Given the description of an element on the screen output the (x, y) to click on. 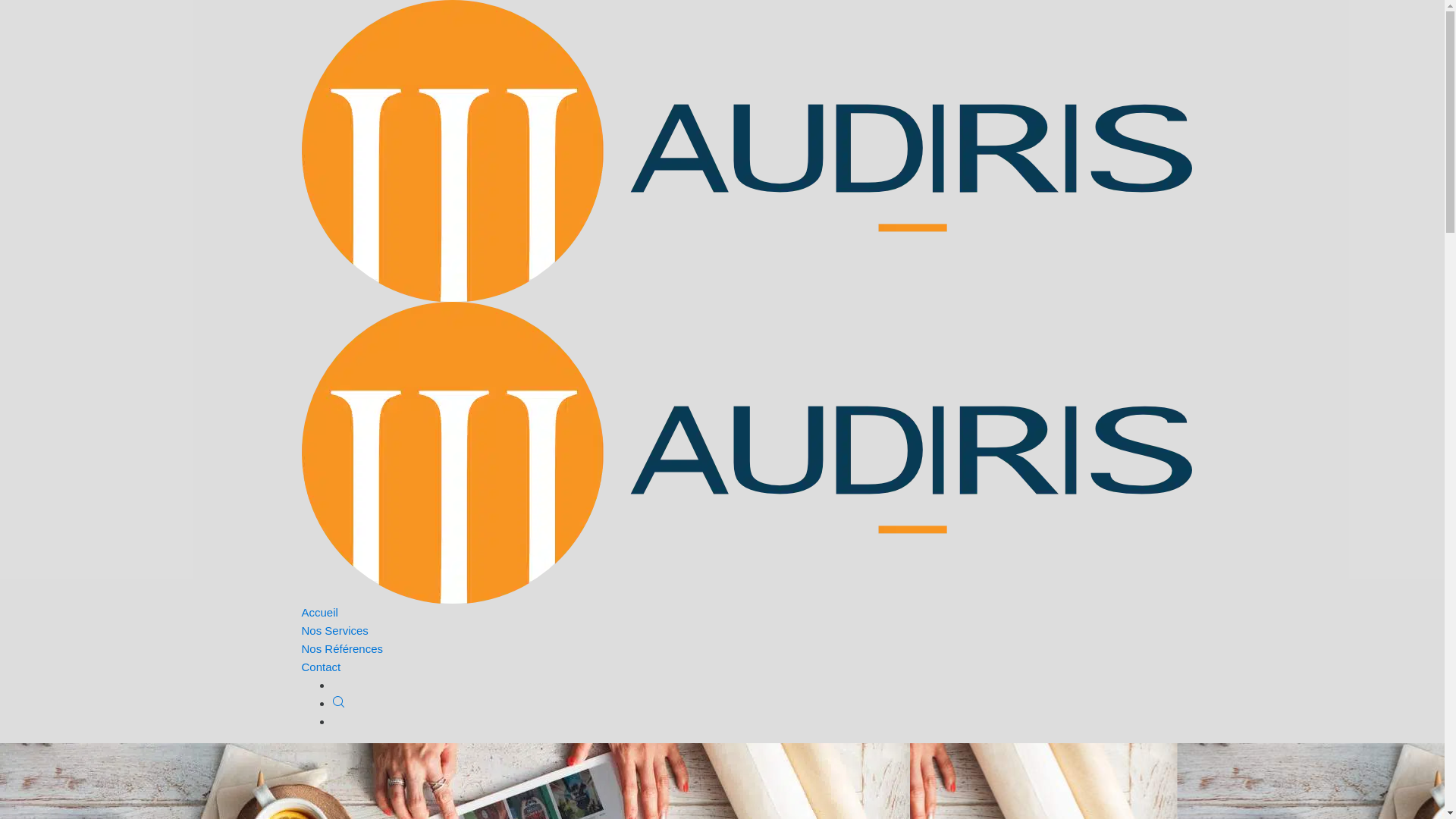
Contact Element type: text (321, 666)
Accueil Element type: text (319, 611)
Nos Services Element type: text (334, 630)
